Given the description of an element on the screen output the (x, y) to click on. 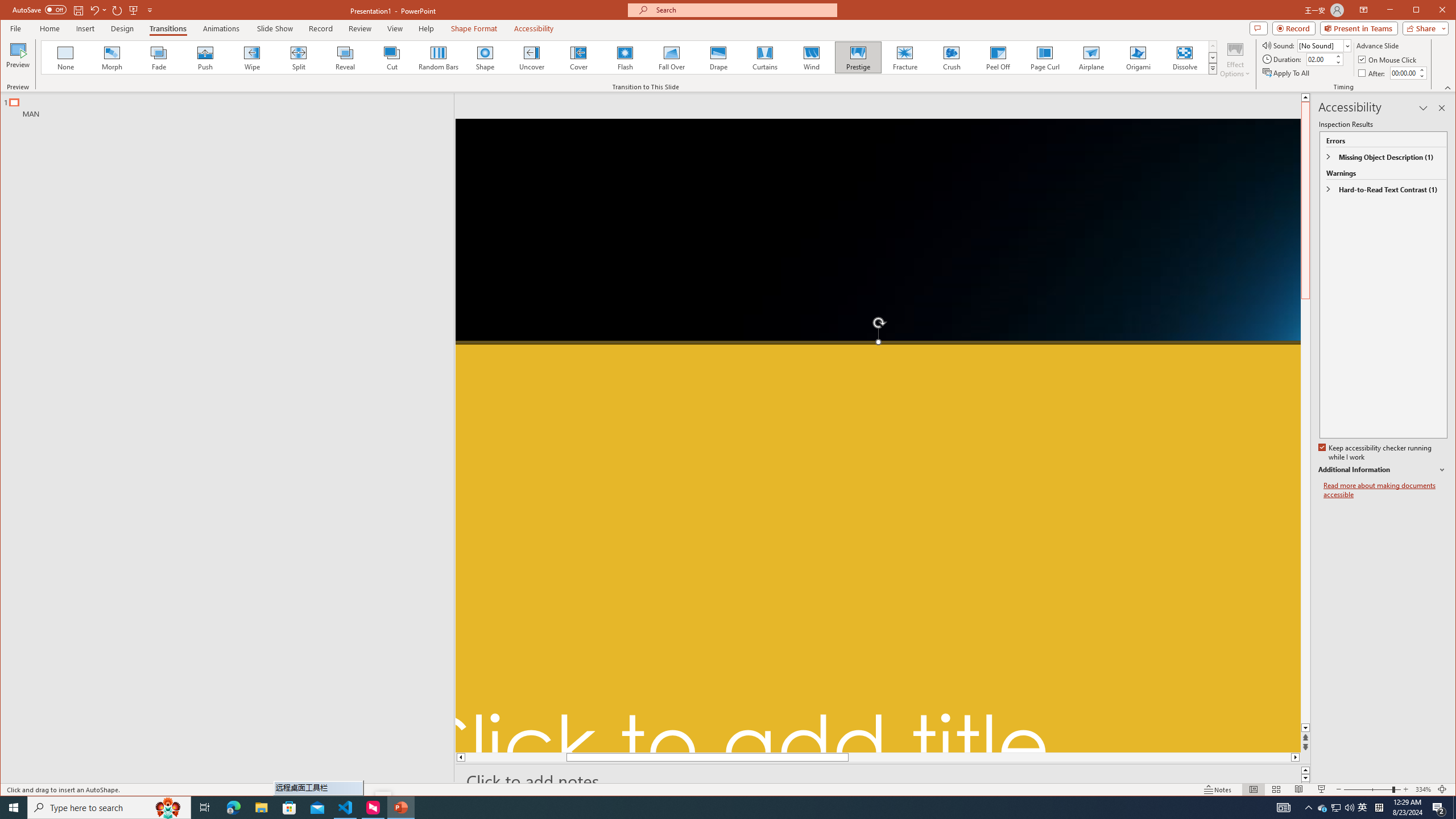
Slide Sorter (1276, 789)
Curtains (764, 57)
Shape Format (473, 28)
Save (77, 9)
Fade (158, 57)
From Beginning (133, 9)
Notification Chevron (1308, 807)
Additional Information (1382, 469)
Effect Options (1322, 807)
Running applications (1235, 59)
Close (700, 807)
Zoom to Fit  (1444, 11)
Random Bars (1441, 789)
Preview (437, 57)
